Given the description of an element on the screen output the (x, y) to click on. 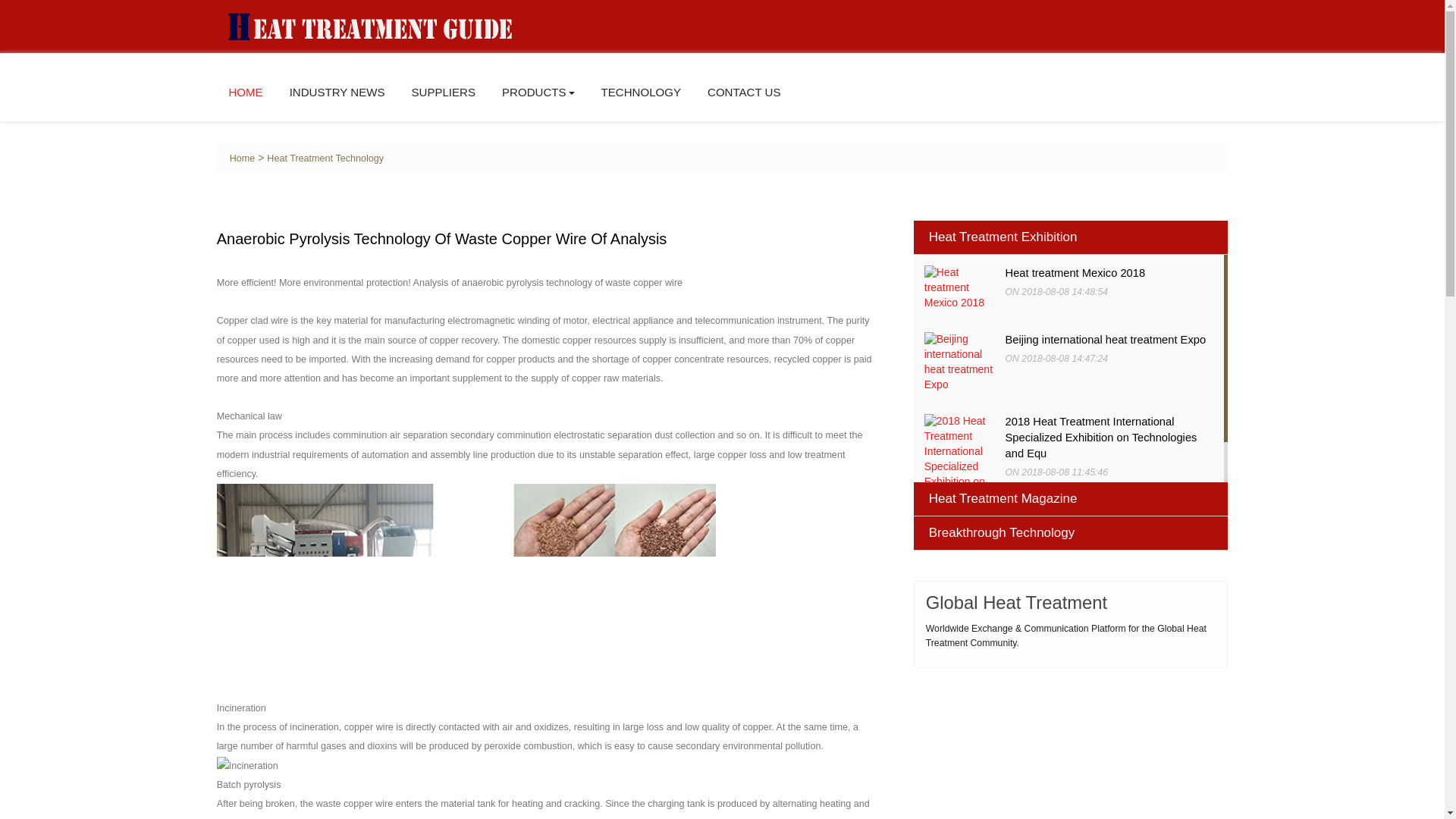
SUPPLIERS (443, 92)
PRODUCTS (538, 92)
Beijing international heat treatment Expo (1106, 339)
HOME (245, 92)
TECHNOLOGY (641, 92)
Heat treatment Mexico 2018 (1075, 272)
Mechanical law (466, 591)
CONTACT US (743, 92)
INDUSTRY NEWS (337, 92)
Incineration (247, 765)
Home (243, 158)
Heat Treatment Technology (325, 158)
